Given the description of an element on the screen output the (x, y) to click on. 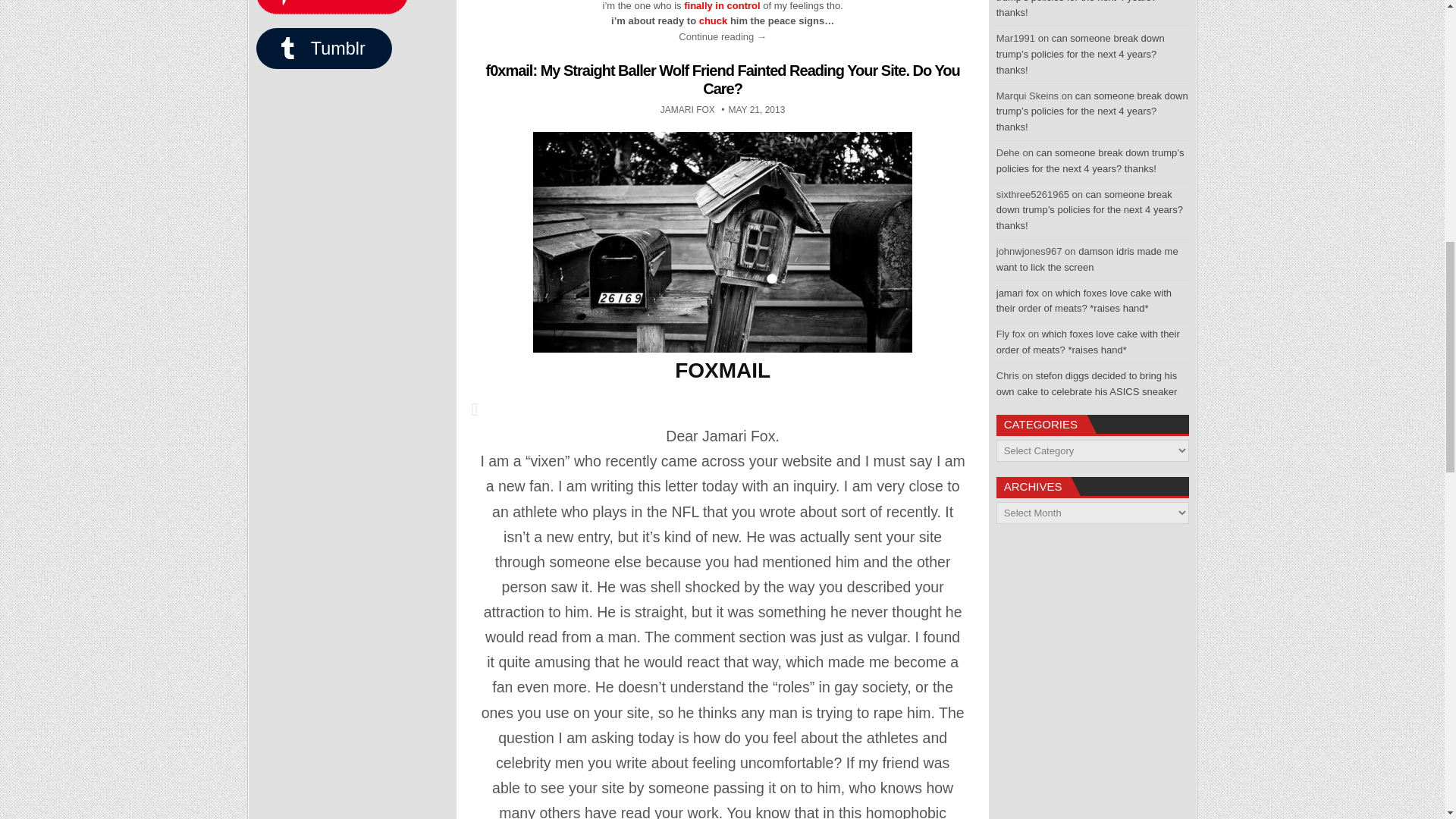
Tumblr (323, 47)
Pinterest (687, 109)
